Given the description of an element on the screen output the (x, y) to click on. 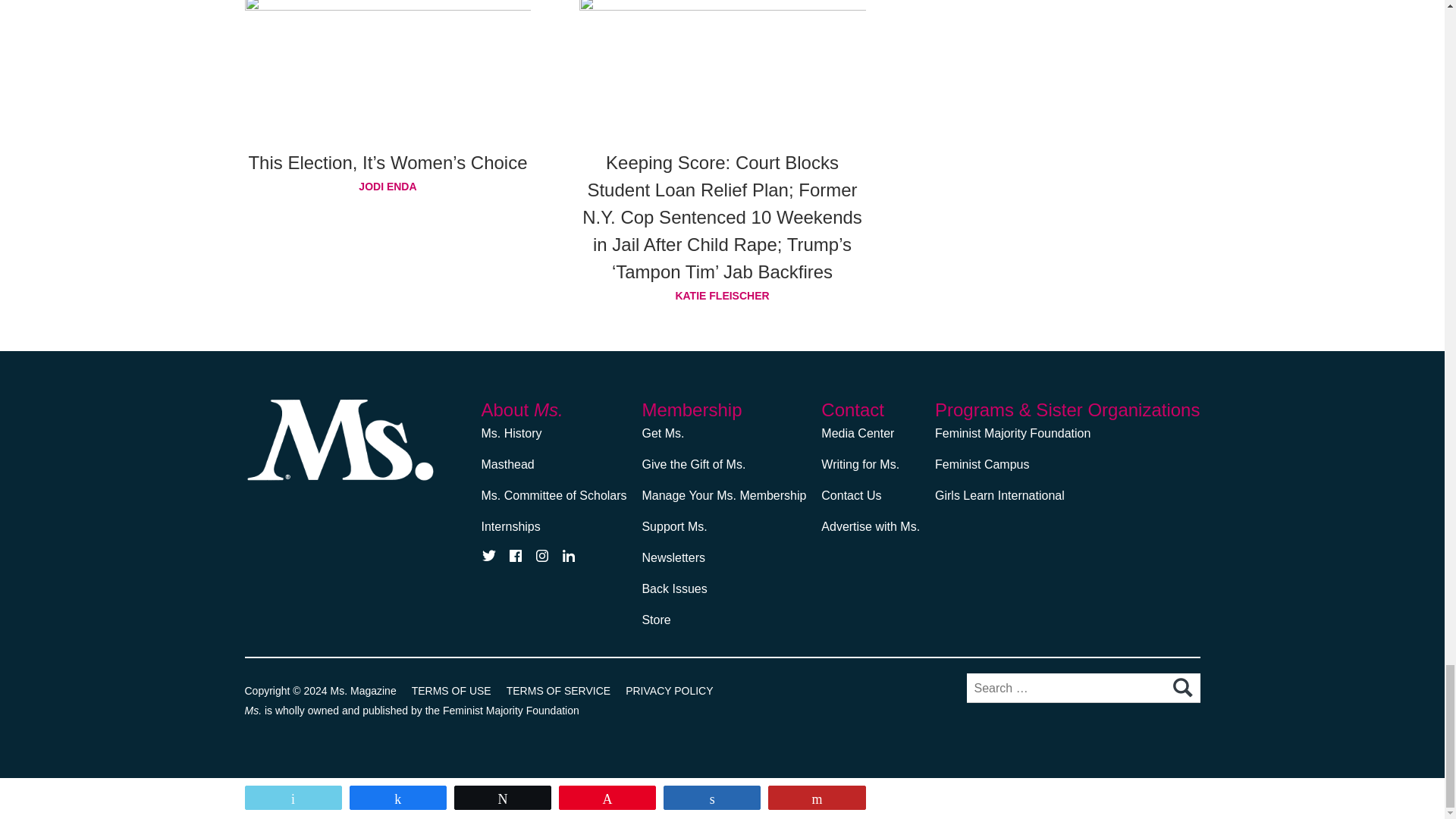
Search (1182, 687)
Search for: (1082, 687)
Posts by Katie Fleischer (722, 295)
Posts by Jodi Enda (387, 186)
Search (1182, 687)
